Given the description of an element on the screen output the (x, y) to click on. 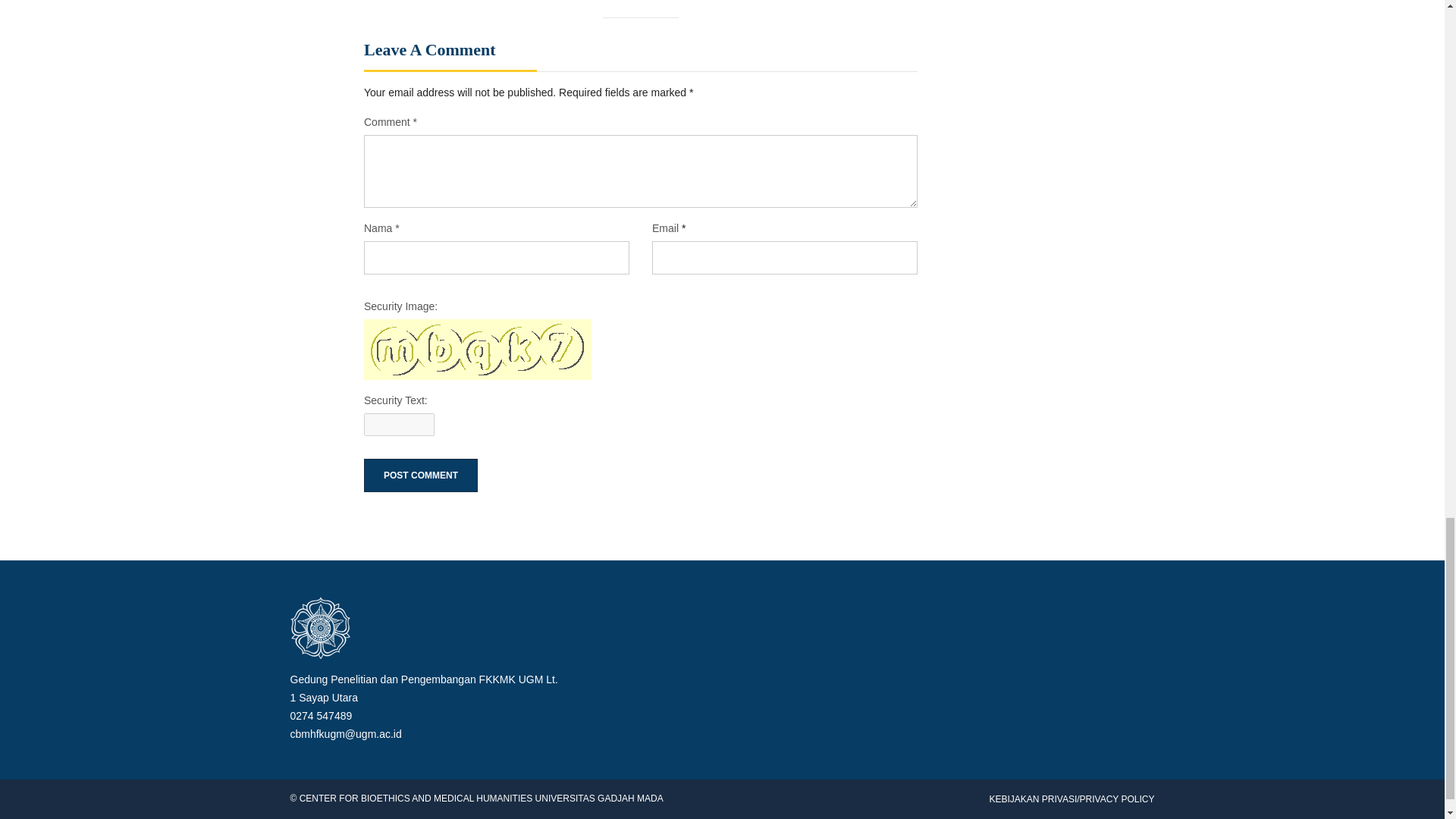
Post Comment (420, 475)
